Given the description of an element on the screen output the (x, y) to click on. 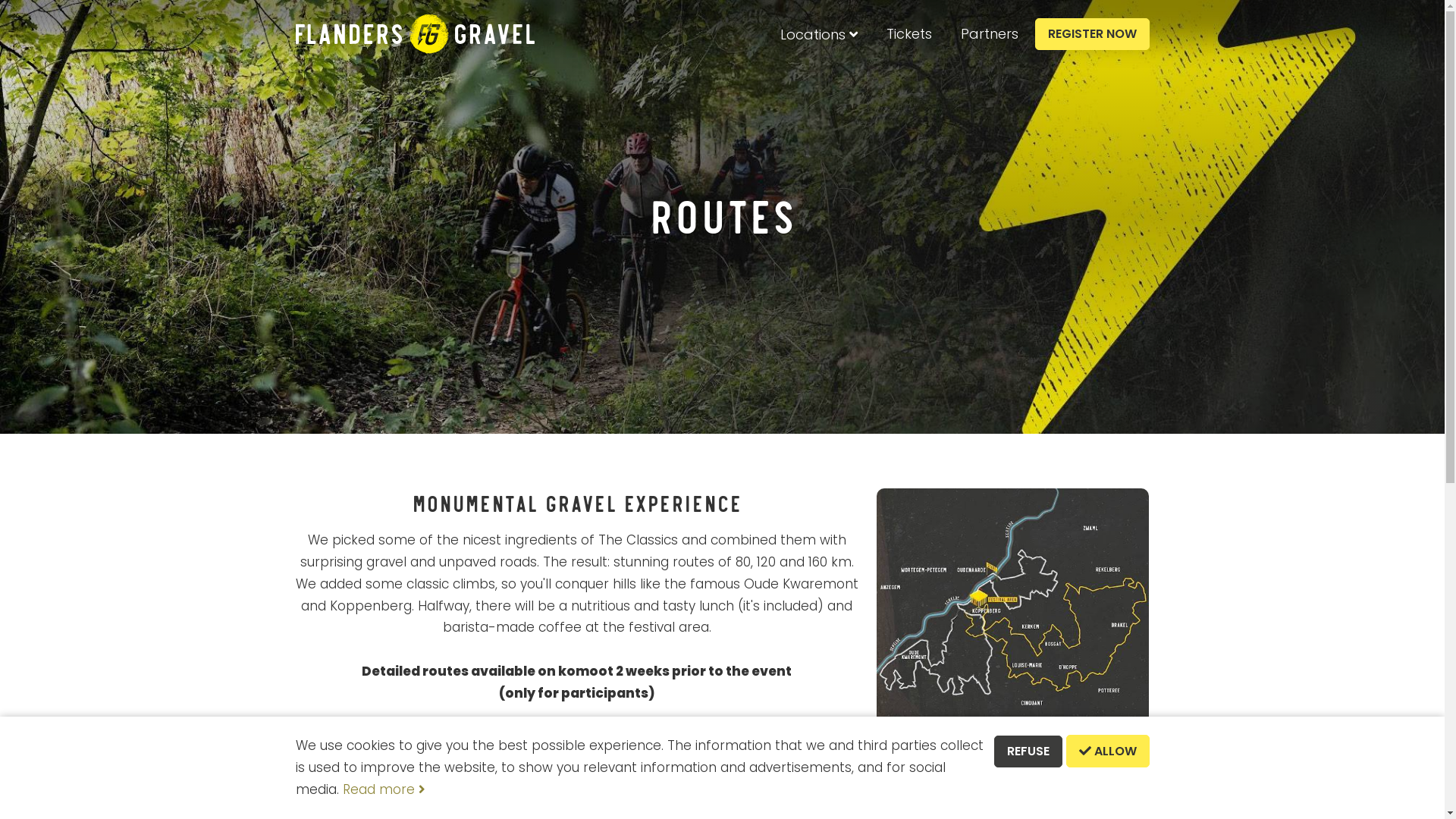
REGISTER NOW Element type: text (1091, 34)
Read more Element type: text (383, 789)
REFUSE Element type: text (1027, 751)
Partners Element type: text (988, 34)
Tickets Element type: text (908, 34)
ALLOW Element type: text (1107, 750)
